Given the description of an element on the screen output the (x, y) to click on. 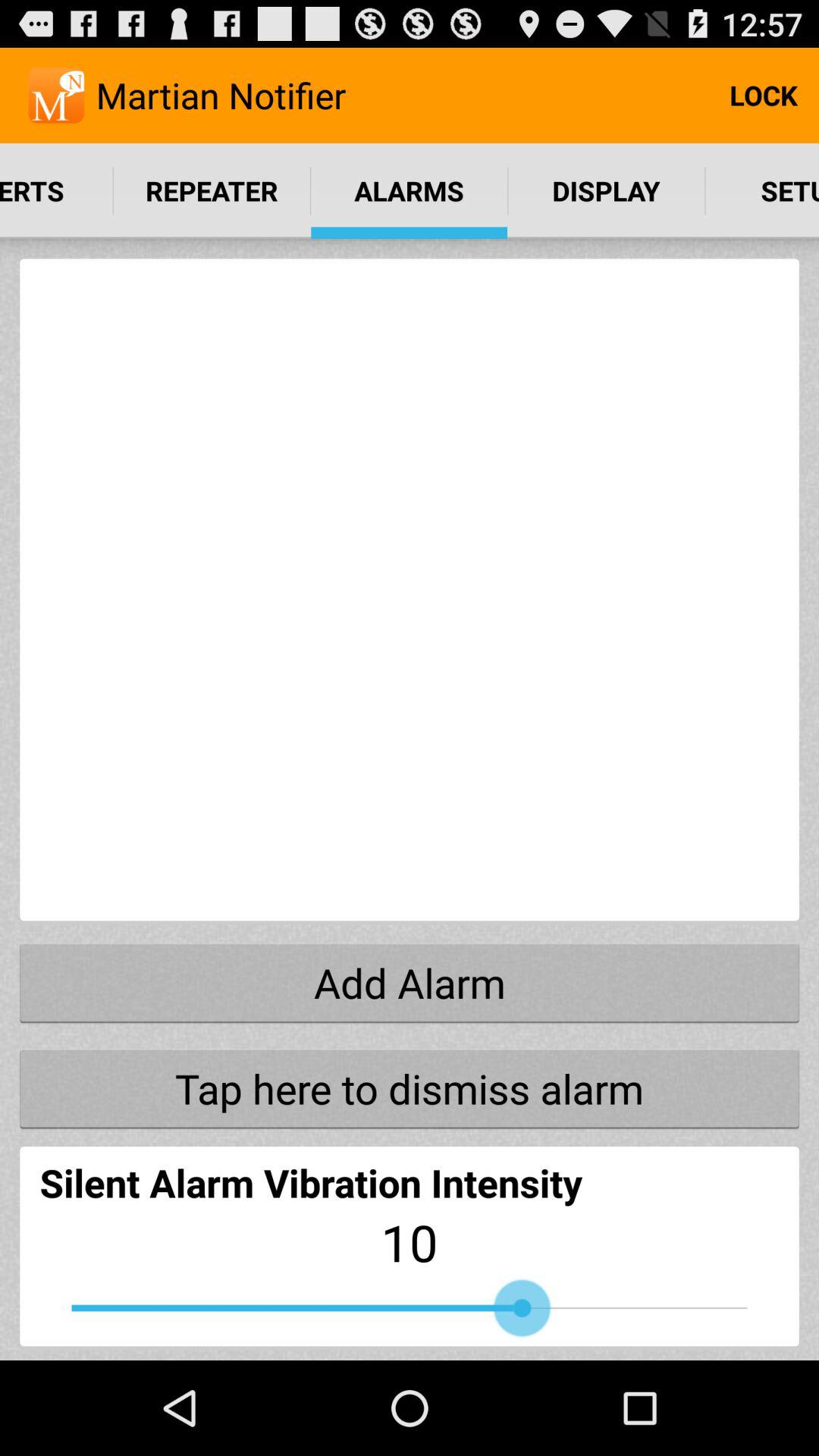
tap the item to the right of martian notifier item (763, 95)
